Given the description of an element on the screen output the (x, y) to click on. 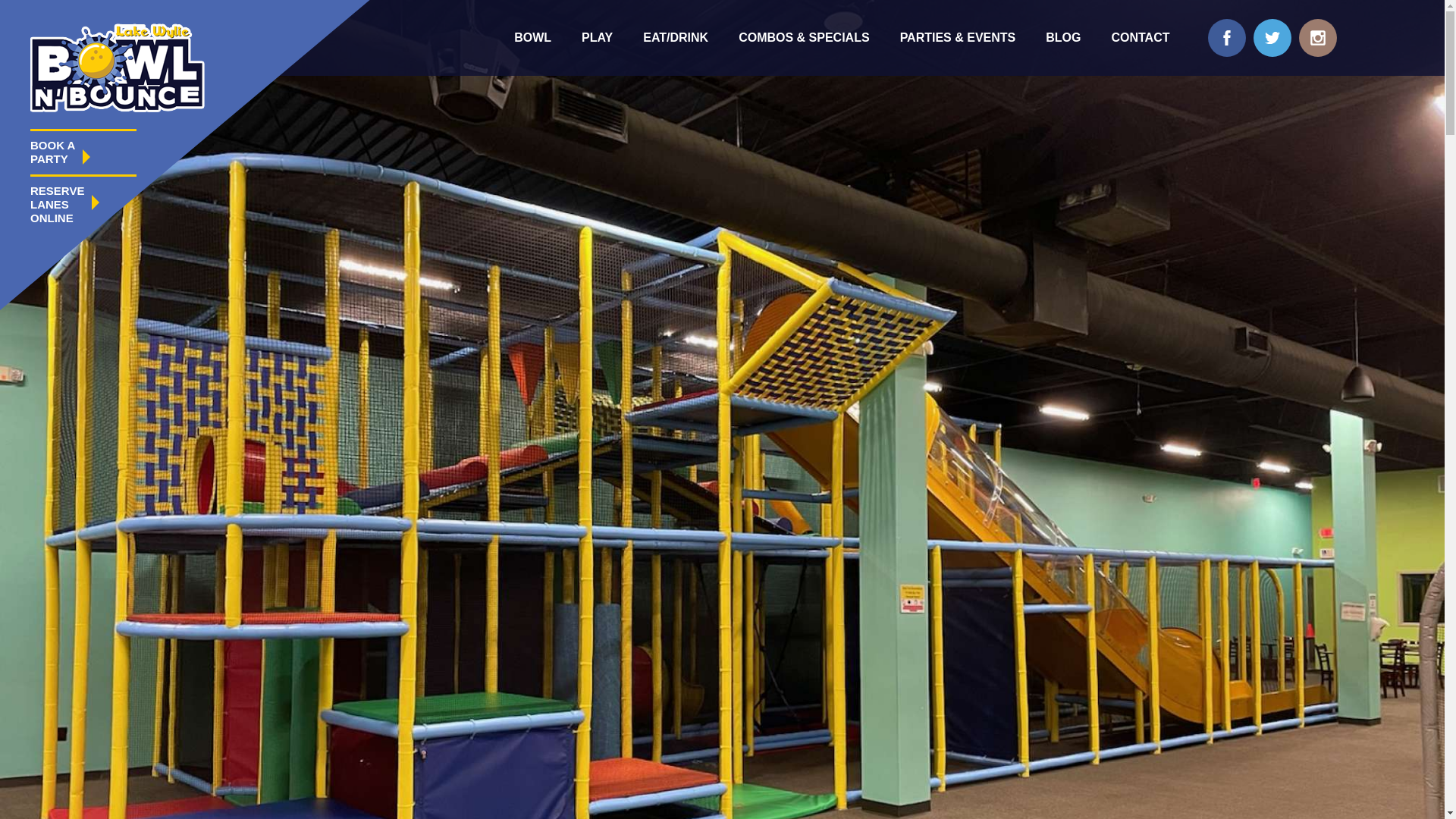
BOWL (532, 38)
CONTACT (1140, 38)
